Given the description of an element on the screen output the (x, y) to click on. 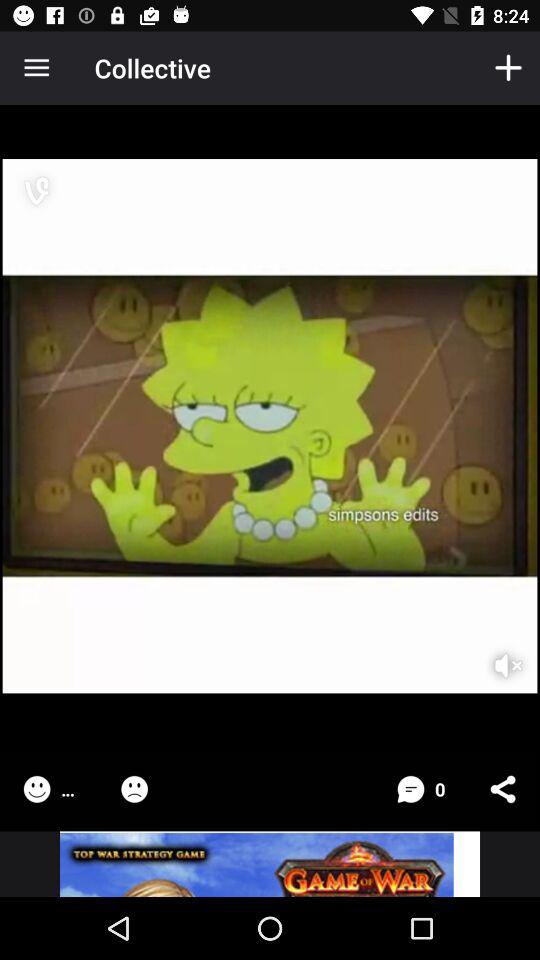
mute sound (495, 652)
